Given the description of an element on the screen output the (x, y) to click on. 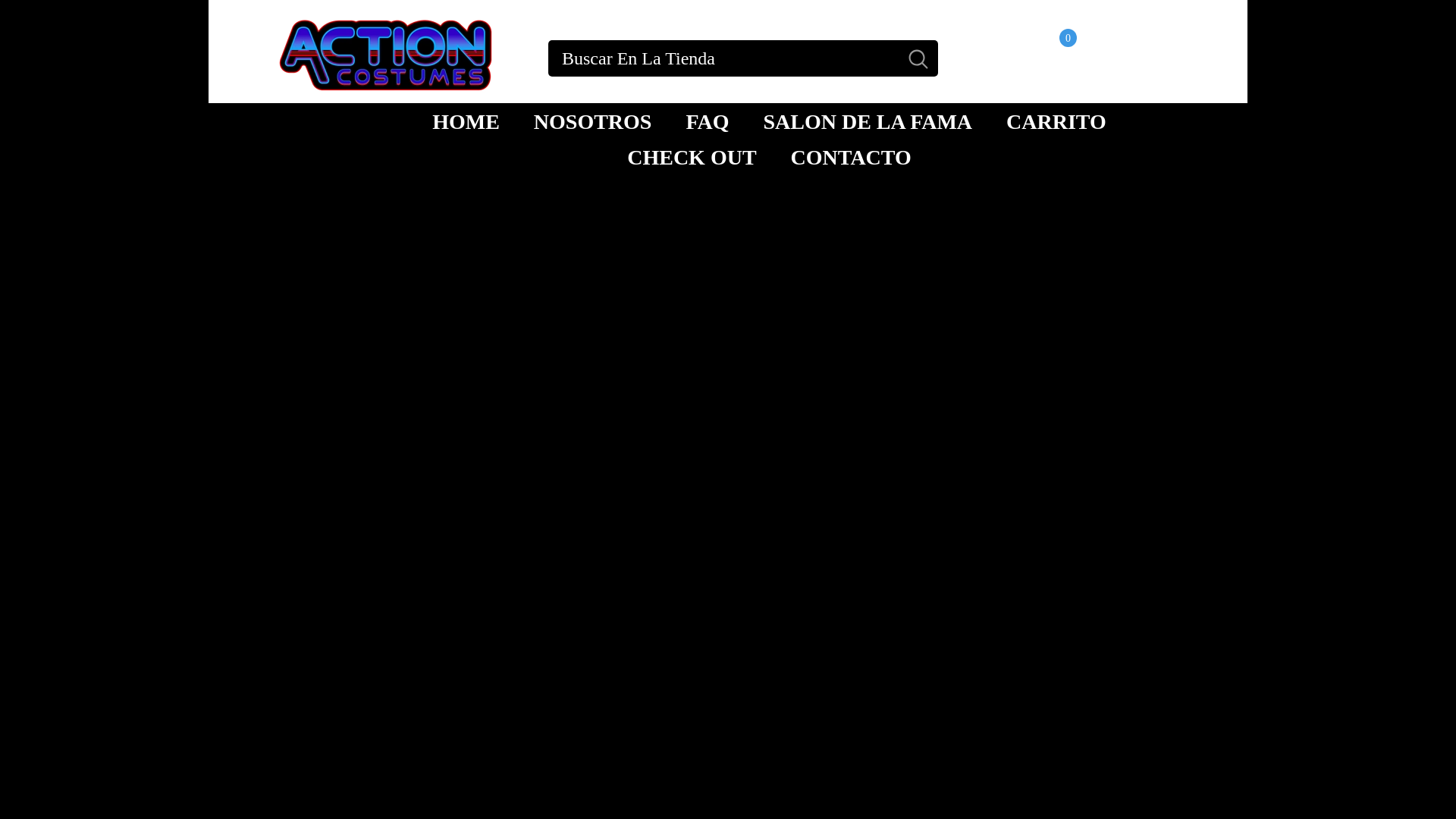
CONTACTO (850, 156)
SALON DE LA FAMA (1039, 58)
NOSOTROS (867, 120)
HOME (592, 120)
FAQ (465, 120)
CARRITO (707, 120)
CHECK OUT (1055, 120)
